Given the description of an element on the screen output the (x, y) to click on. 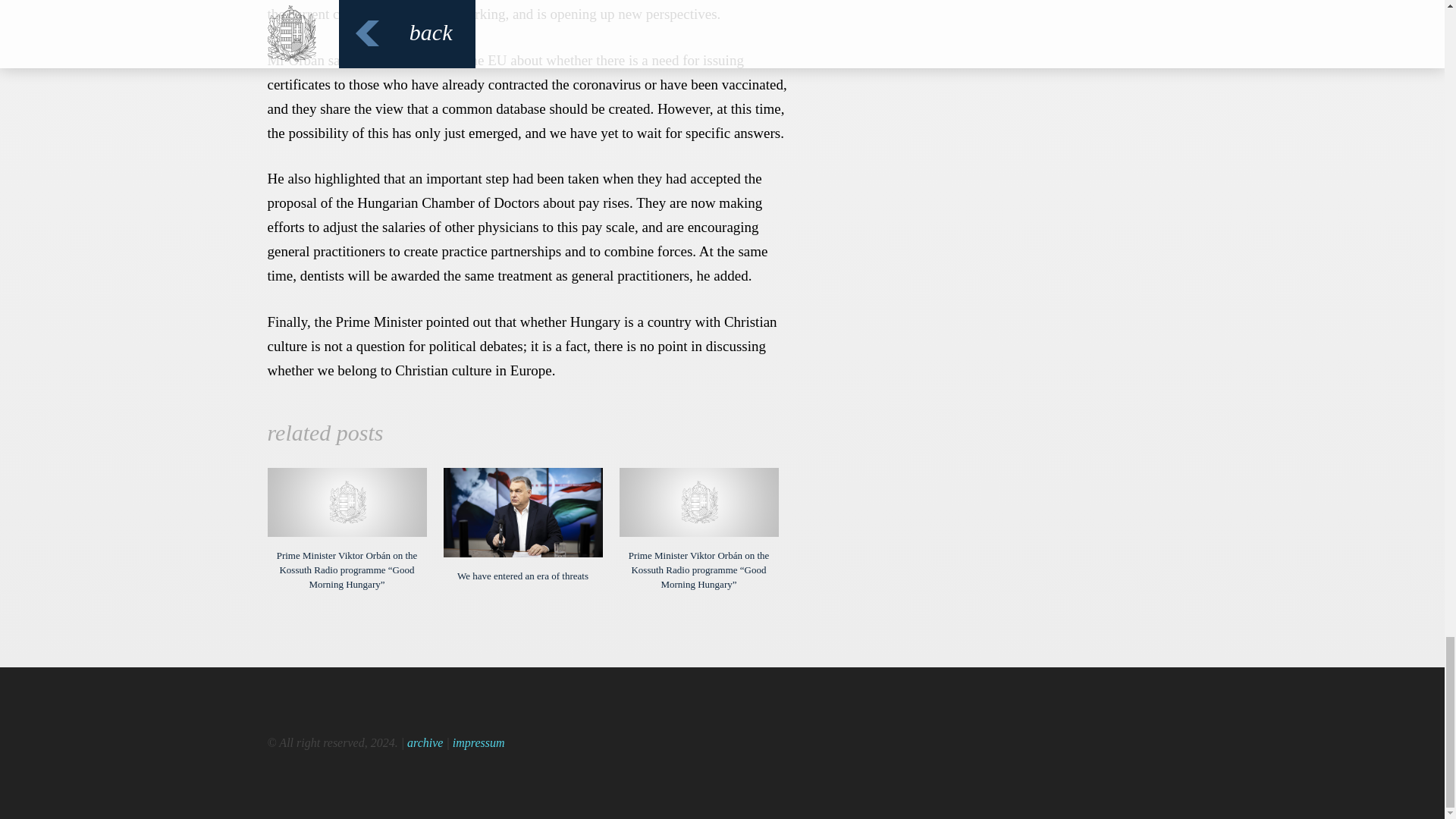
We have entered an era of threats (522, 525)
impressum (478, 742)
archive (424, 742)
